Given the description of an element on the screen output the (x, y) to click on. 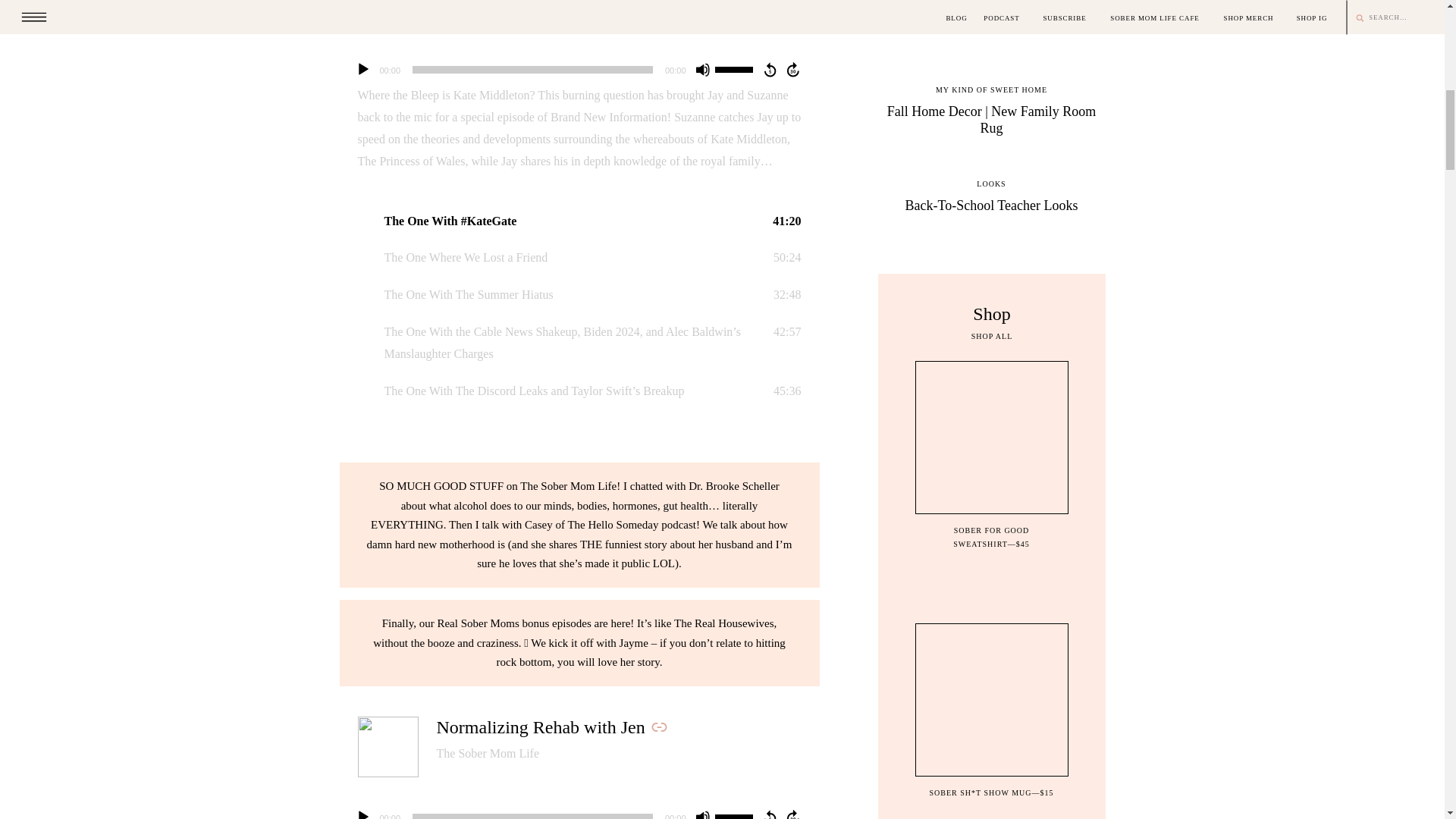
Skip Forward (793, 69)
Jump Back (768, 814)
Jump Back (768, 69)
Play (362, 814)
Skip Forward (793, 814)
Mute (702, 814)
Play (362, 69)
Mute (702, 69)
